Given the description of an element on the screen output the (x, y) to click on. 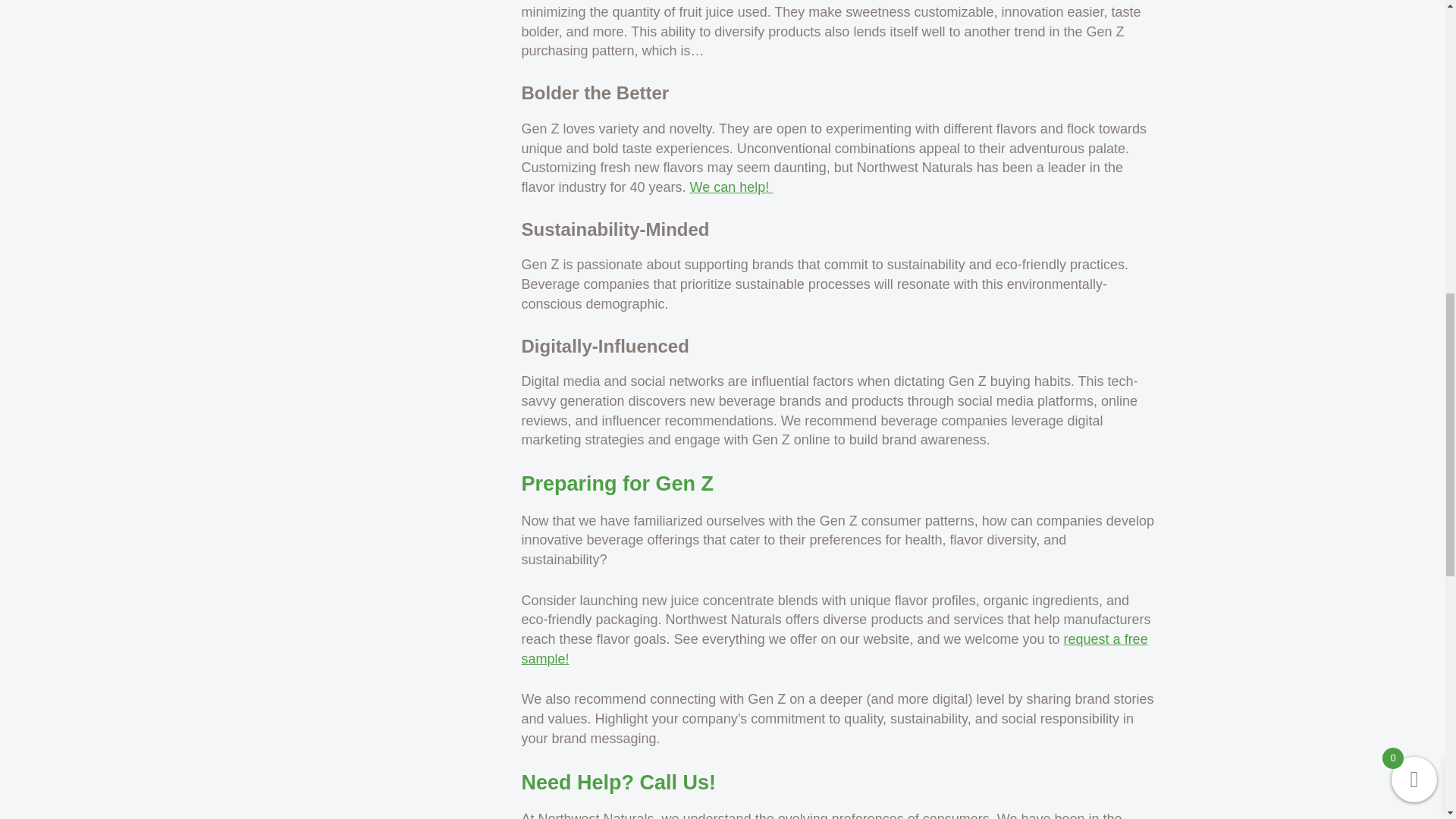
We can help!  (731, 186)
request a free sample! (834, 648)
